Given the description of an element on the screen output the (x, y) to click on. 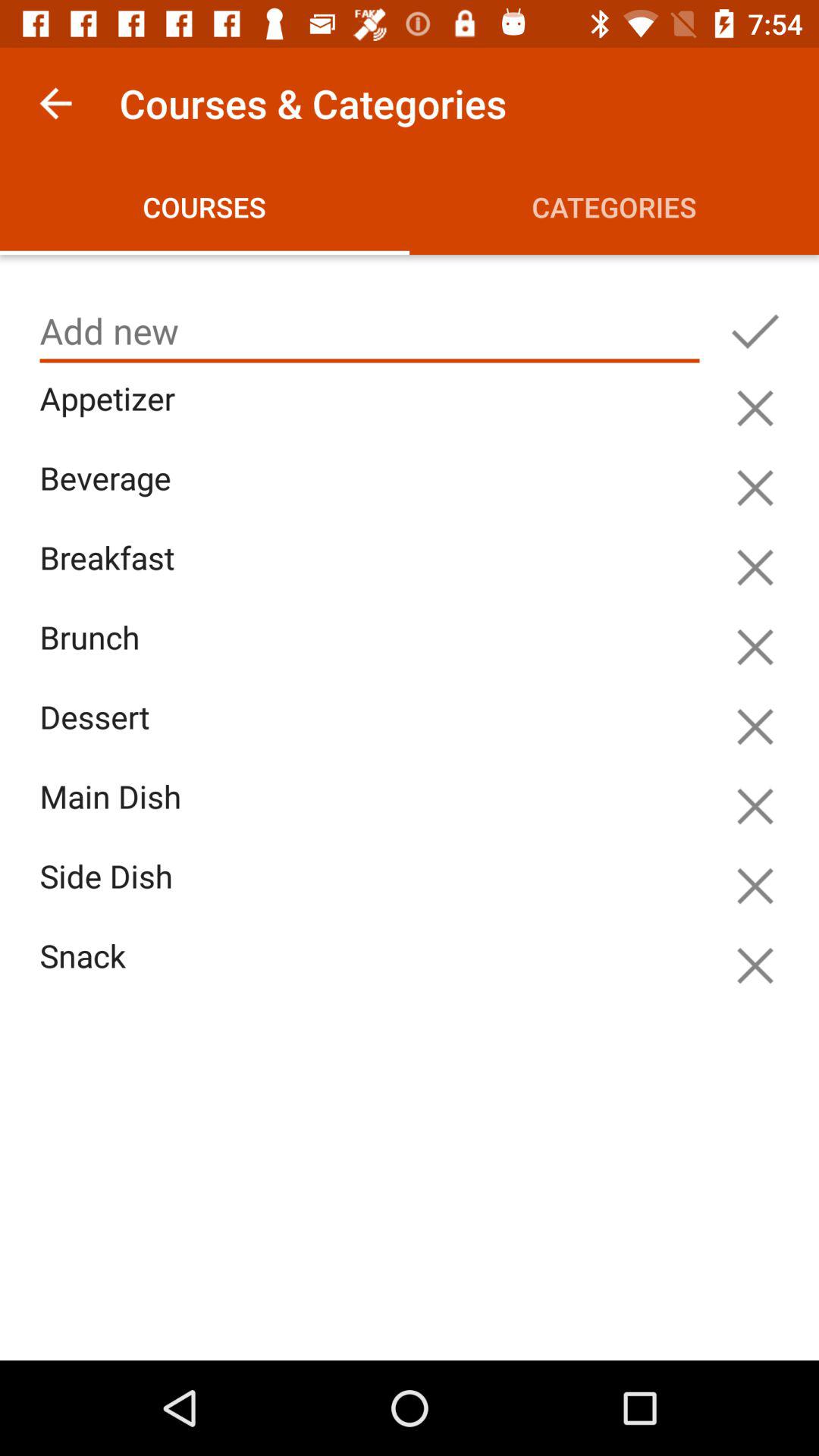
select the brunch (373, 655)
